Given the description of an element on the screen output the (x, y) to click on. 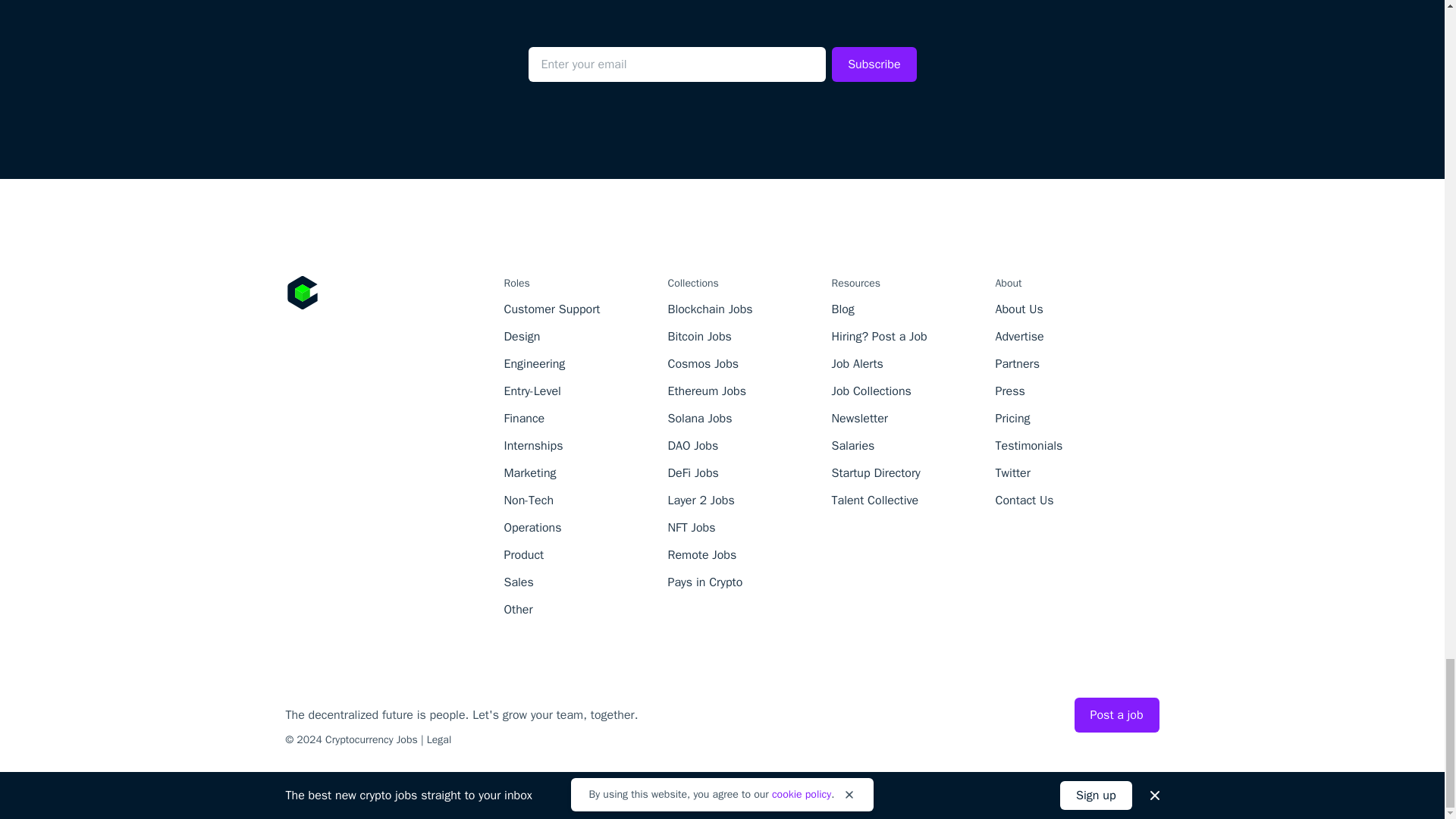
Your email address (676, 63)
